Given the description of an element on the screen output the (x, y) to click on. 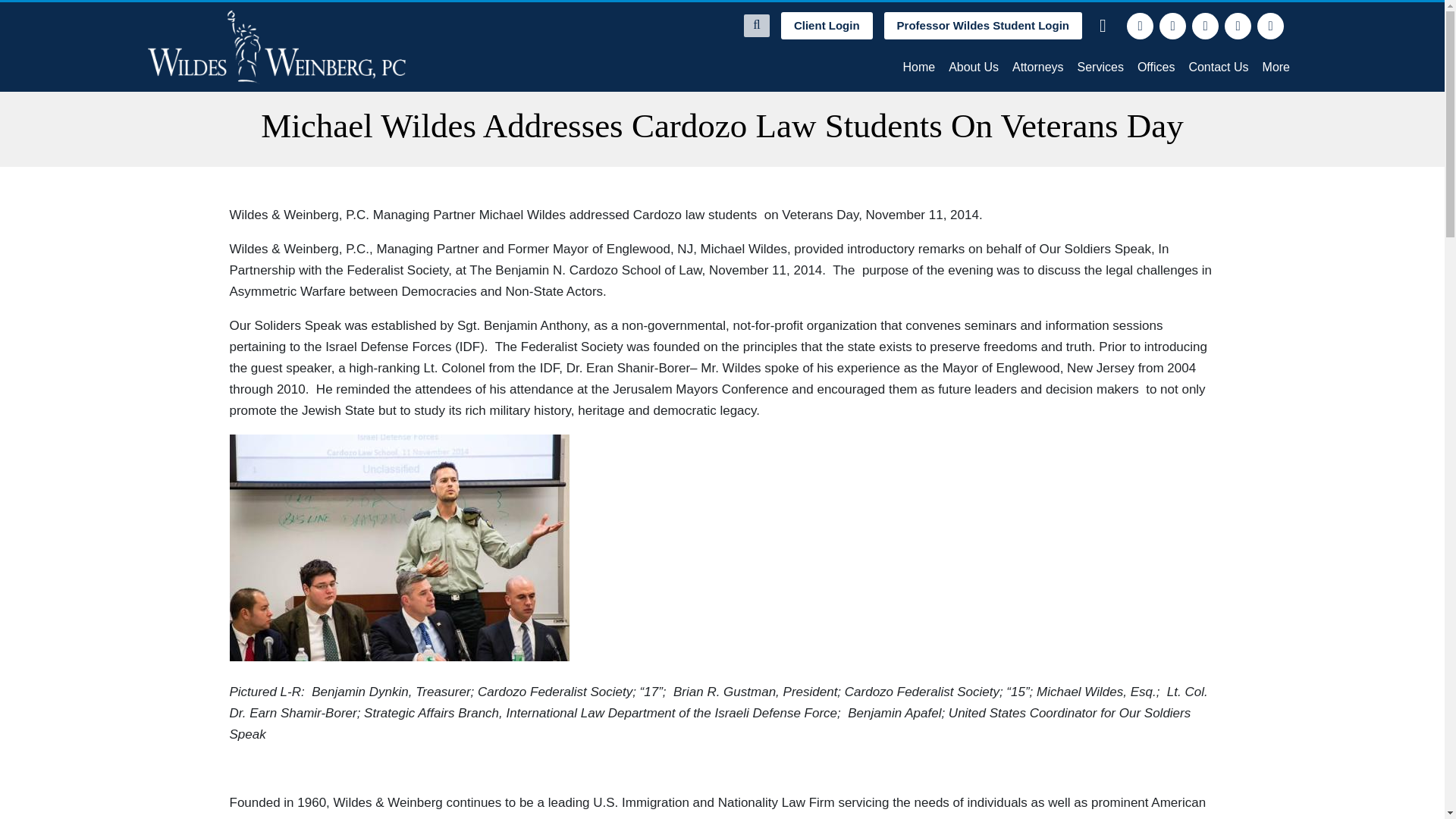
About Us (974, 67)
linkedin (1205, 26)
Professor Wildes Student Login (982, 25)
Services (1100, 67)
twitter (1172, 26)
facebook (1139, 26)
Home (918, 67)
instagram (1237, 26)
youtube (1270, 26)
Client Login (826, 25)
Attorneys (1038, 67)
